Given the description of an element on the screen output the (x, y) to click on. 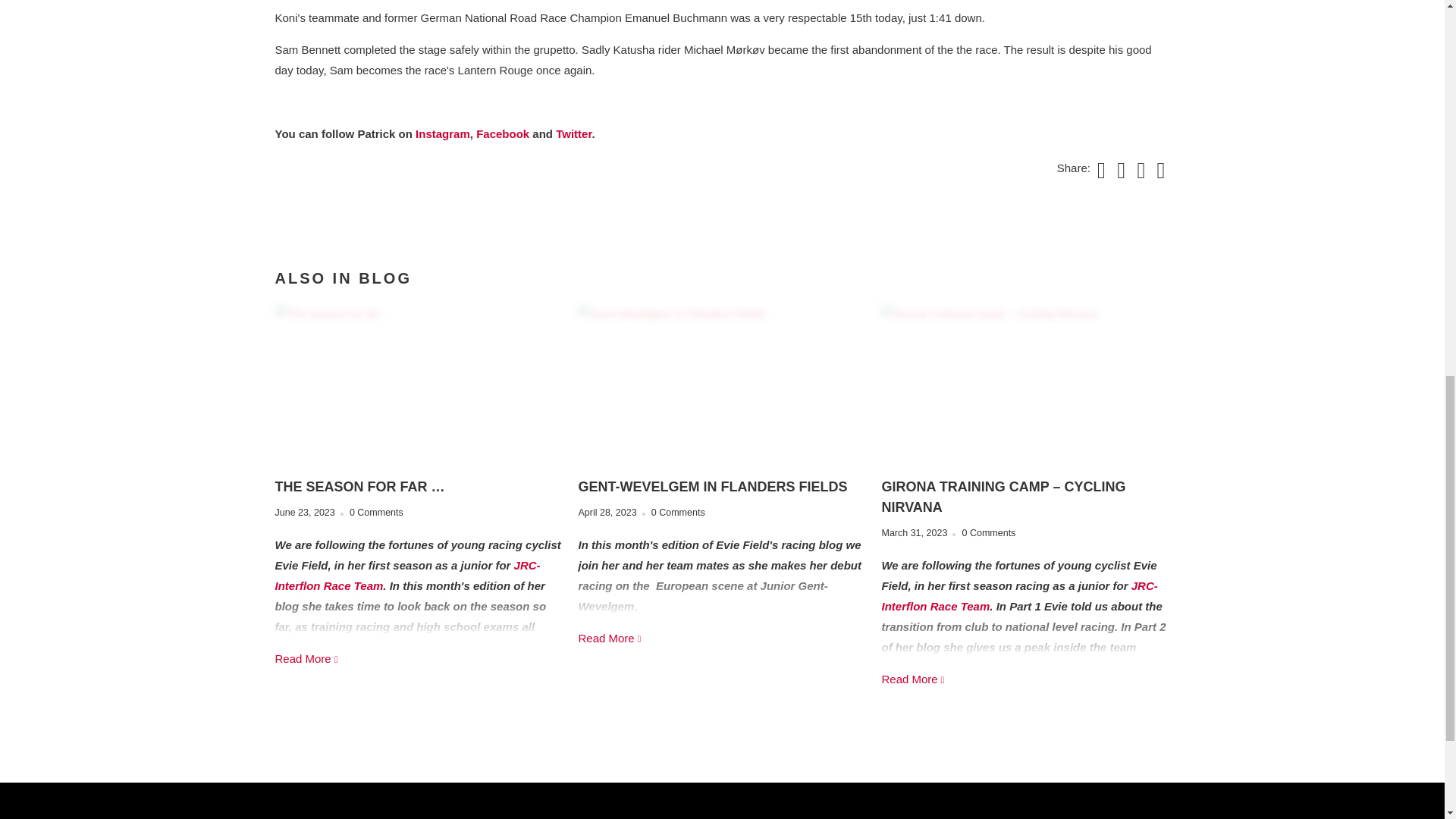
Gent-Wevelgem in Flanders Fields (722, 384)
Gent-Wevelgem in Flanders Fields (712, 486)
Gent-Wevelgem in Flanders Fields (610, 637)
